Given the description of an element on the screen output the (x, y) to click on. 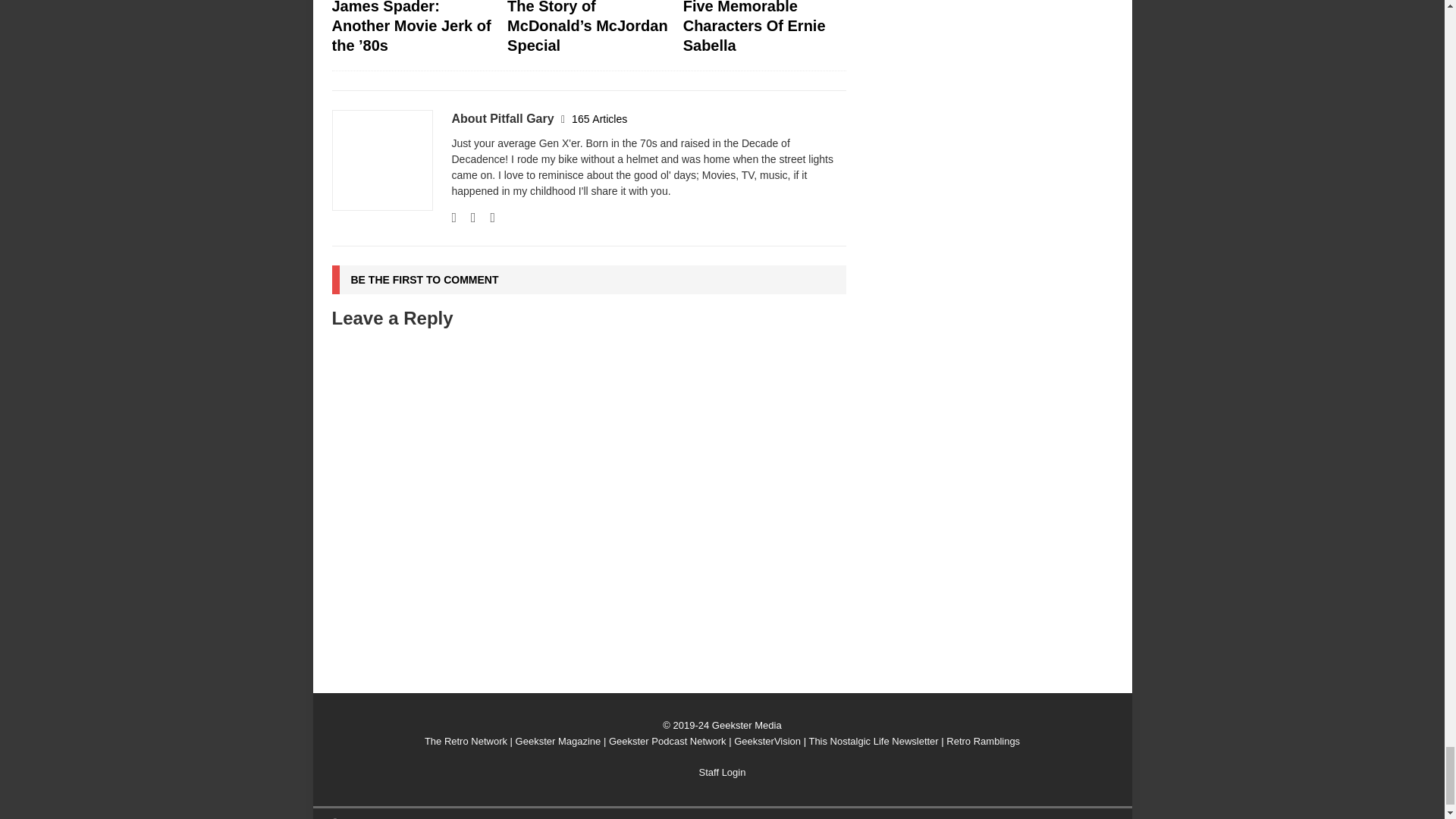
Follow Pitfall Gary on Instagram (468, 217)
Five Memorable Characters Of Ernie Sabella (753, 27)
Follow Pitfall Gary on Twitter (487, 217)
More articles written by Pitfall Gary' (599, 119)
